Given the description of an element on the screen output the (x, y) to click on. 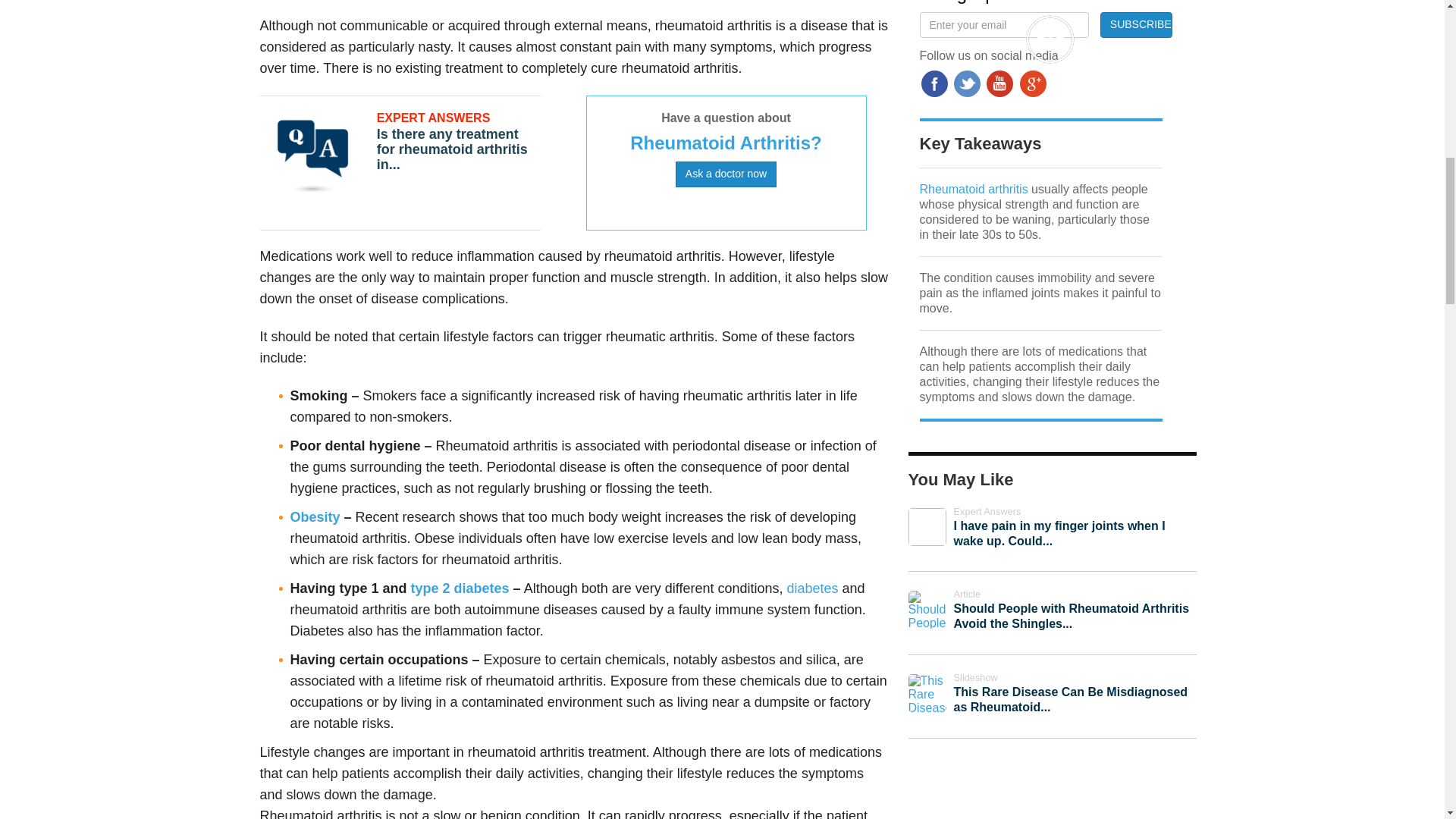
SUBSCRIBE (1136, 24)
